Given the description of an element on the screen output the (x, y) to click on. 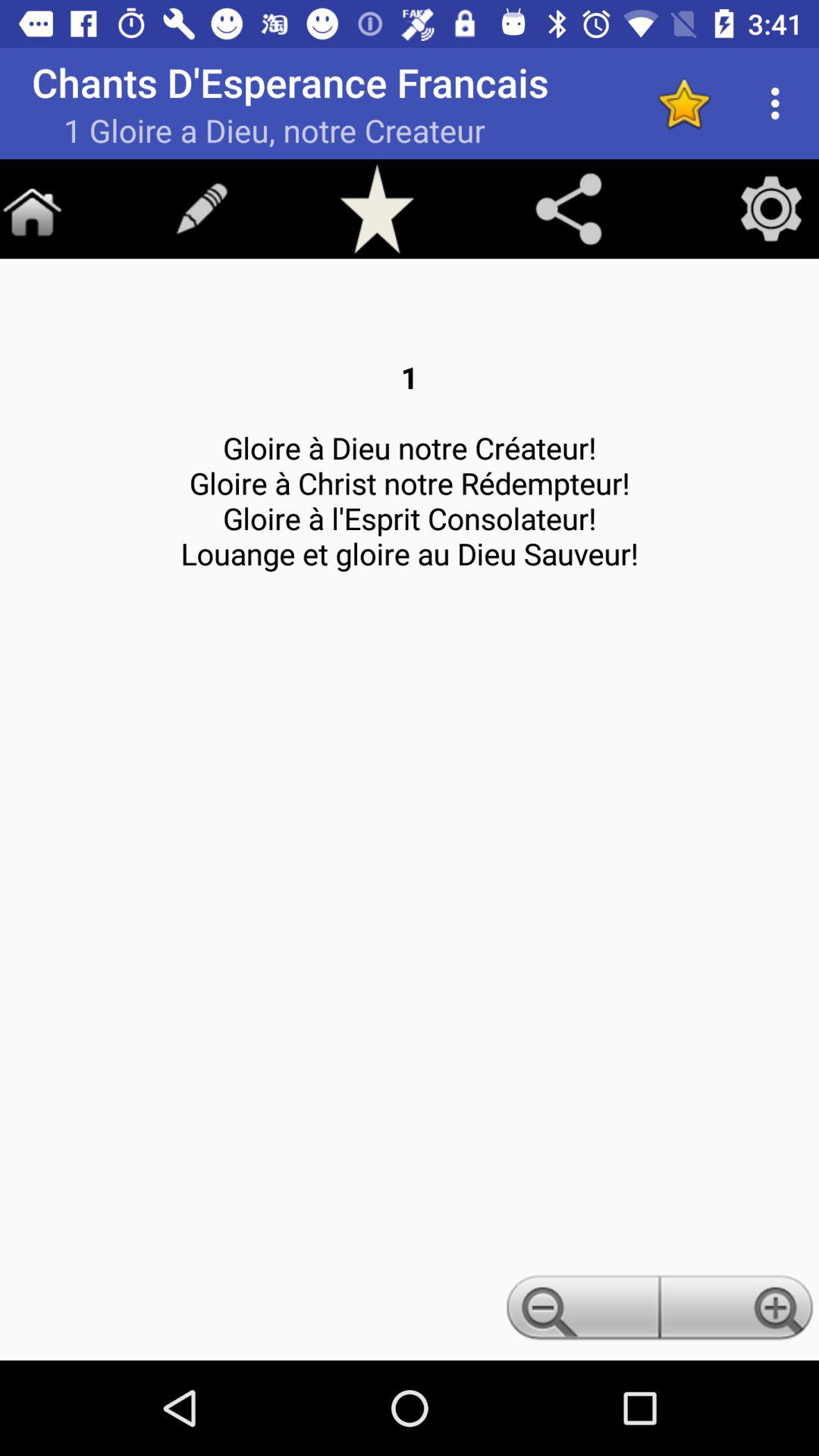
turn off item below the 1 gloire a item (201, 208)
